Given the description of an element on the screen output the (x, y) to click on. 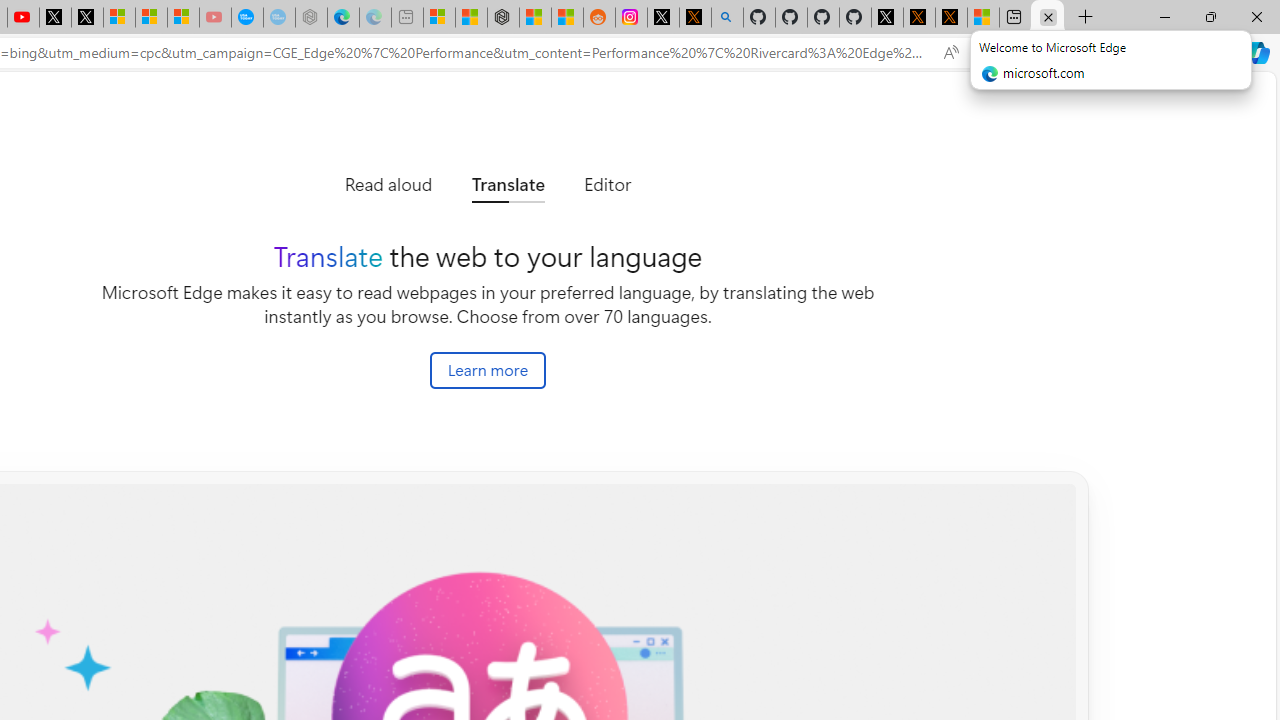
Nordace - Nordace has arrived Hong Kong - Sleeping (310, 17)
Opinion: Op-Ed and Commentary - USA TODAY (246, 17)
Welcome to Microsoft Edge (1047, 17)
Enhance video (991, 53)
